Given the description of an element on the screen output the (x, y) to click on. 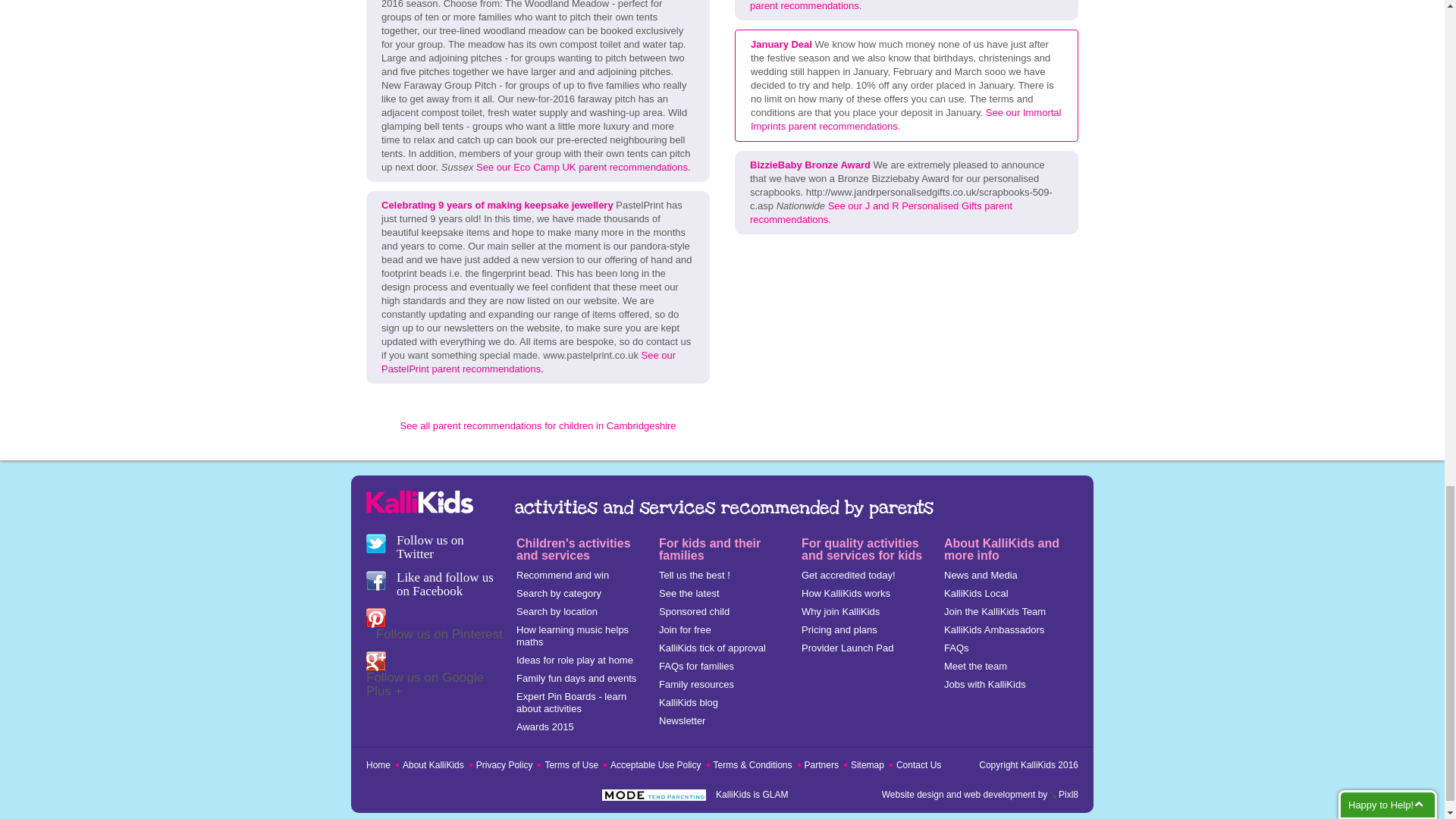
See our Immortal Imprints parent recommendations. (906, 119)
Celebrating 9 years of making keepsake jewellery (496, 204)
See our PastelPrint parent recommendations. (528, 361)
January Deal (781, 43)
See our Eco Camp UK parent recommendations. (581, 166)
See our Little Voices Peterborough parent recommendations. (903, 5)
